Given the description of an element on the screen output the (x, y) to click on. 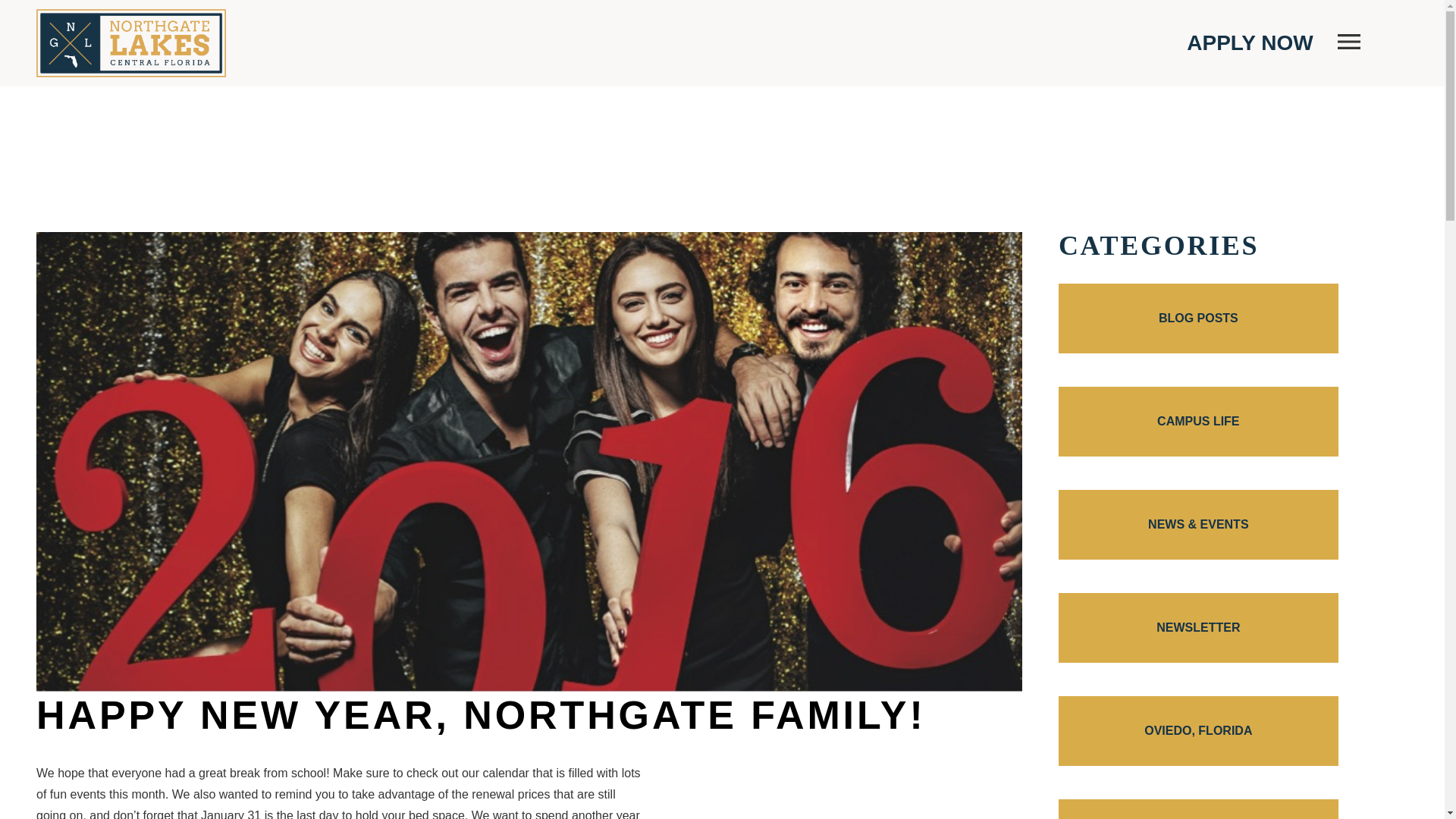
NEWSLETTER (1198, 627)
BLOG POSTS (1198, 317)
CAMPUS LIFE (1198, 421)
OVIEDO, FLORIDA (1198, 730)
STUDENT LIVING (1198, 809)
HAPPY NEW YEAR, NORTHGATE FAMILY! (481, 714)
external link opens in a new tab (1249, 43)
APPLY NOW (1249, 43)
